Given the description of an element on the screen output the (x, y) to click on. 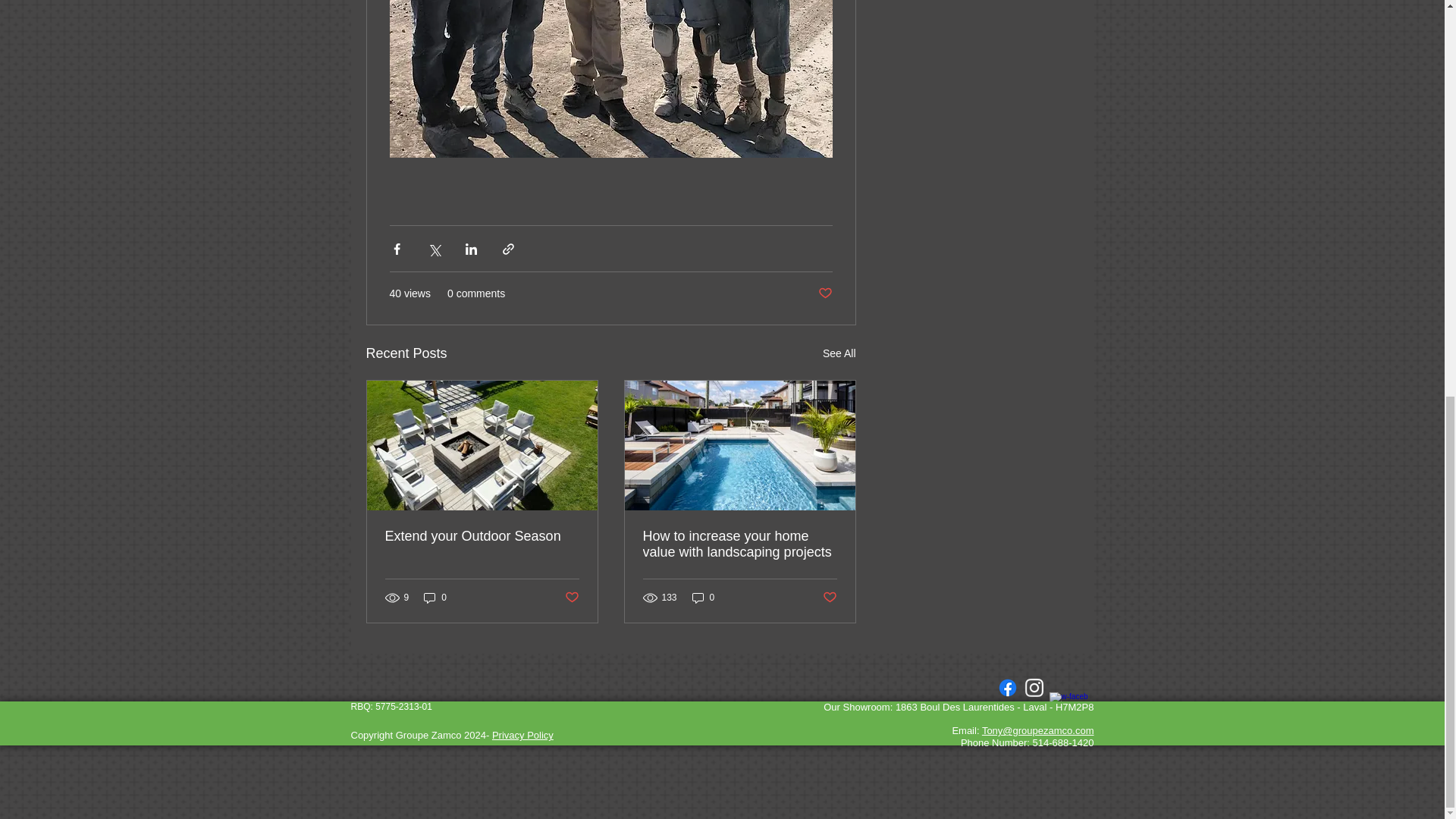
Extend your Outdoor Season (482, 536)
0 (703, 597)
Post not marked as liked (823, 293)
How to increase your home value with landscaping projects (740, 544)
0 (435, 597)
See All (839, 353)
Post not marked as liked (828, 596)
Post not marked as liked (571, 596)
Privacy Policy (522, 735)
